Given the description of an element on the screen output the (x, y) to click on. 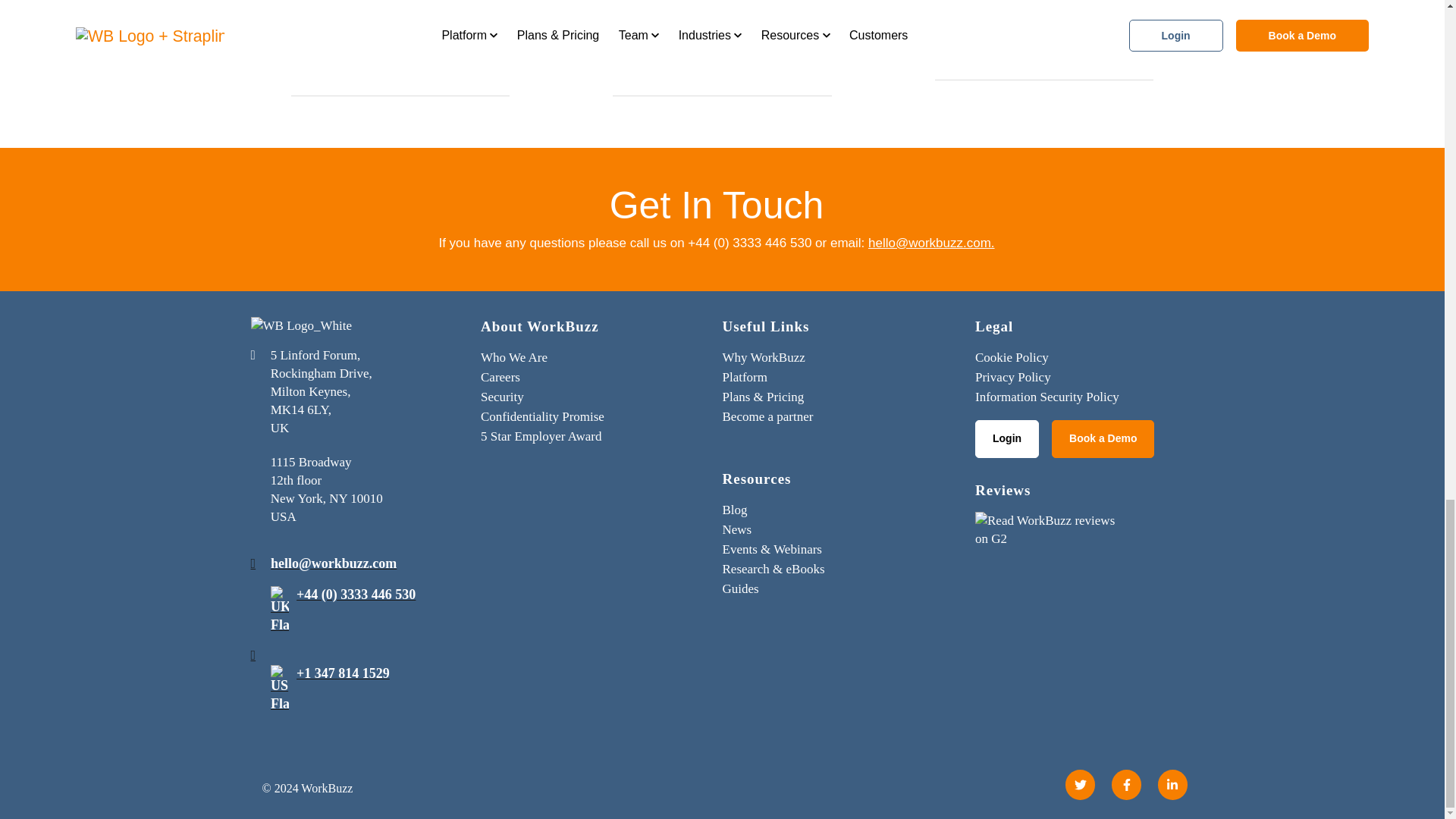
Read reviews of WorkBuzz on G2 (1050, 534)
